Given the description of an element on the screen output the (x, y) to click on. 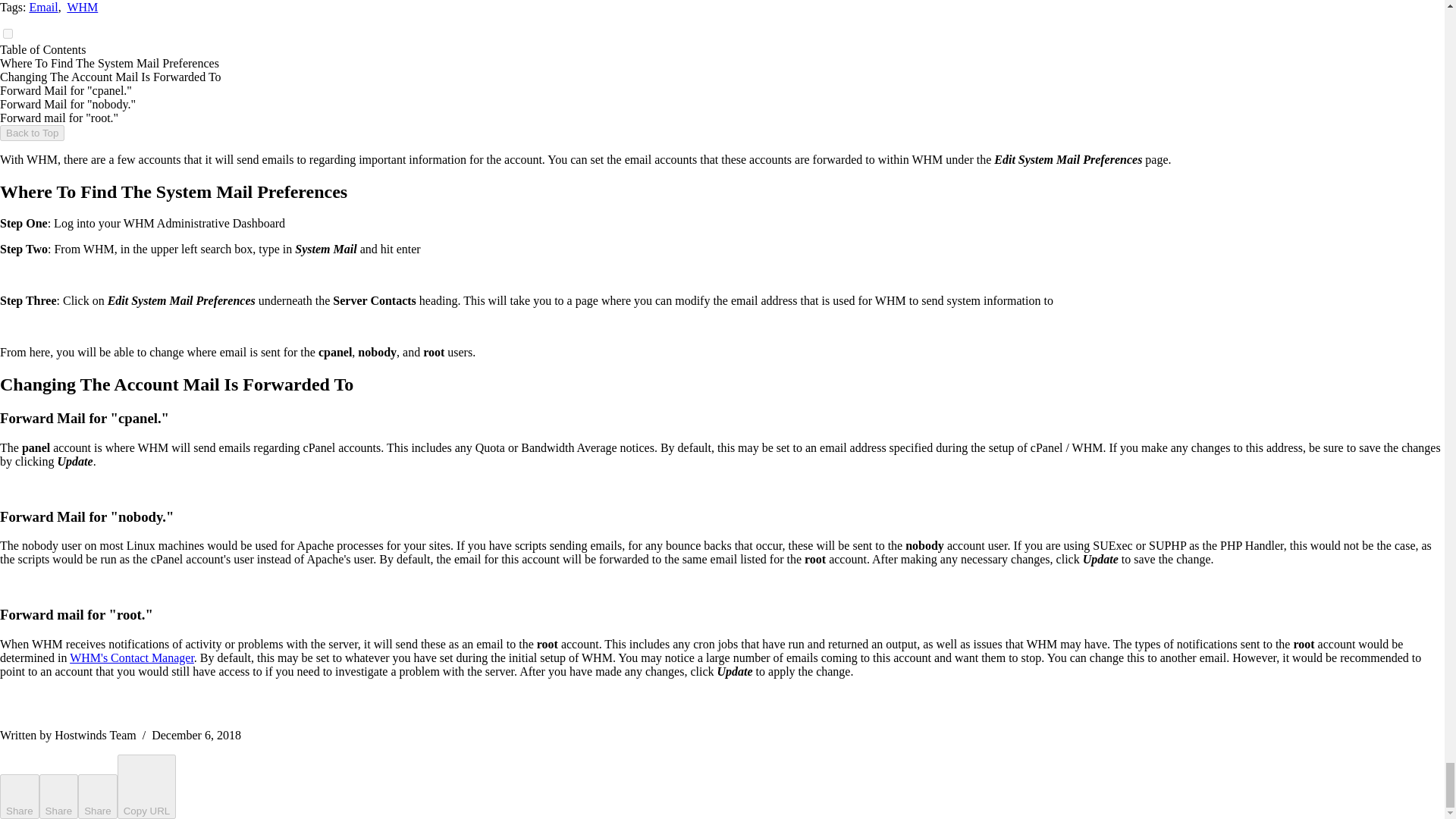
on (7, 33)
Email (43, 6)
WHM (81, 6)
